Given the description of an element on the screen output the (x, y) to click on. 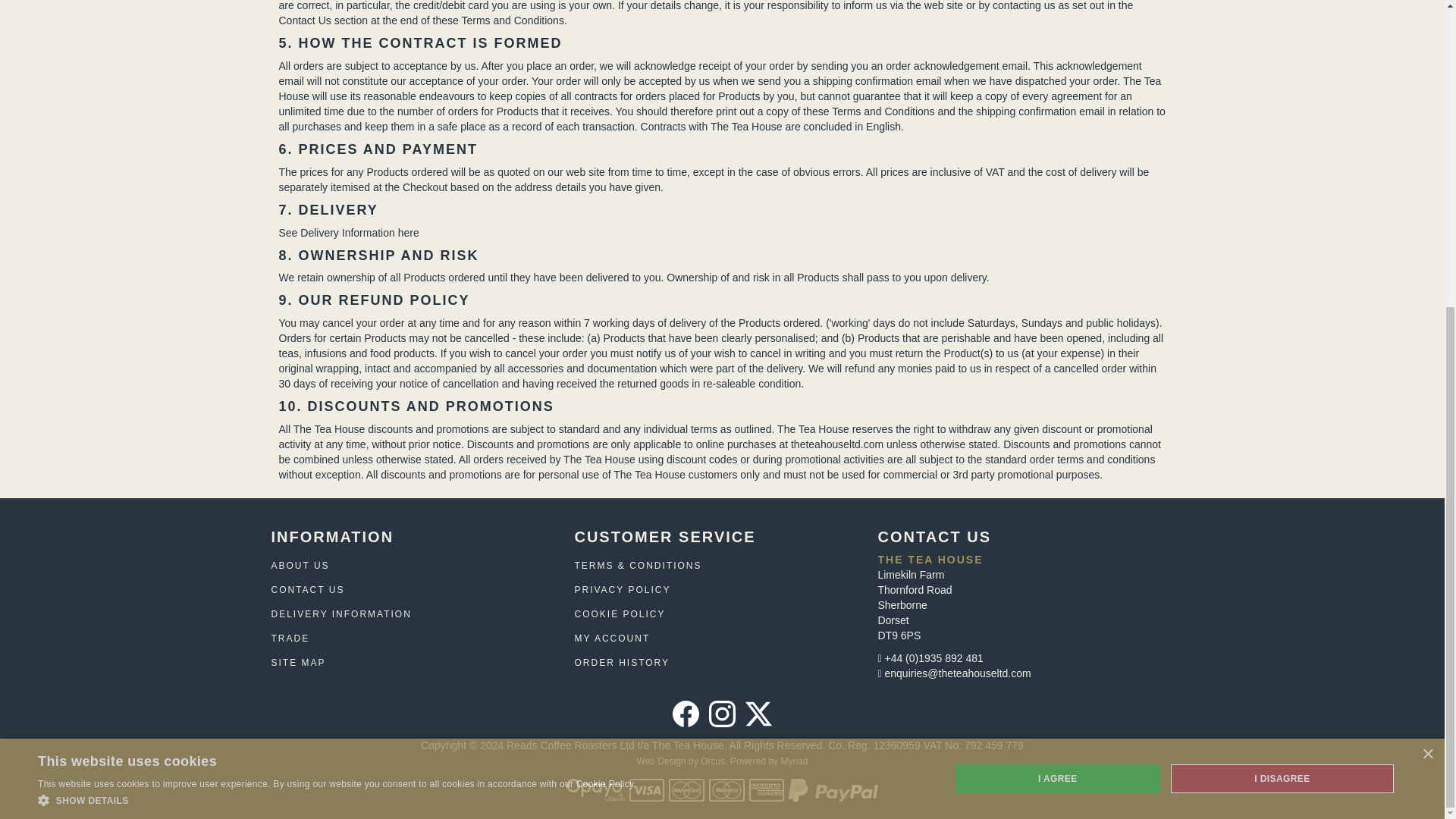
Paypal (833, 789)
Amex (766, 789)
Visa (646, 789)
Masestro (726, 789)
sagepay (595, 789)
Facebook (685, 714)
Mastercard (686, 789)
Instagram (722, 714)
Twitter (758, 714)
